Given the description of an element on the screen output the (x, y) to click on. 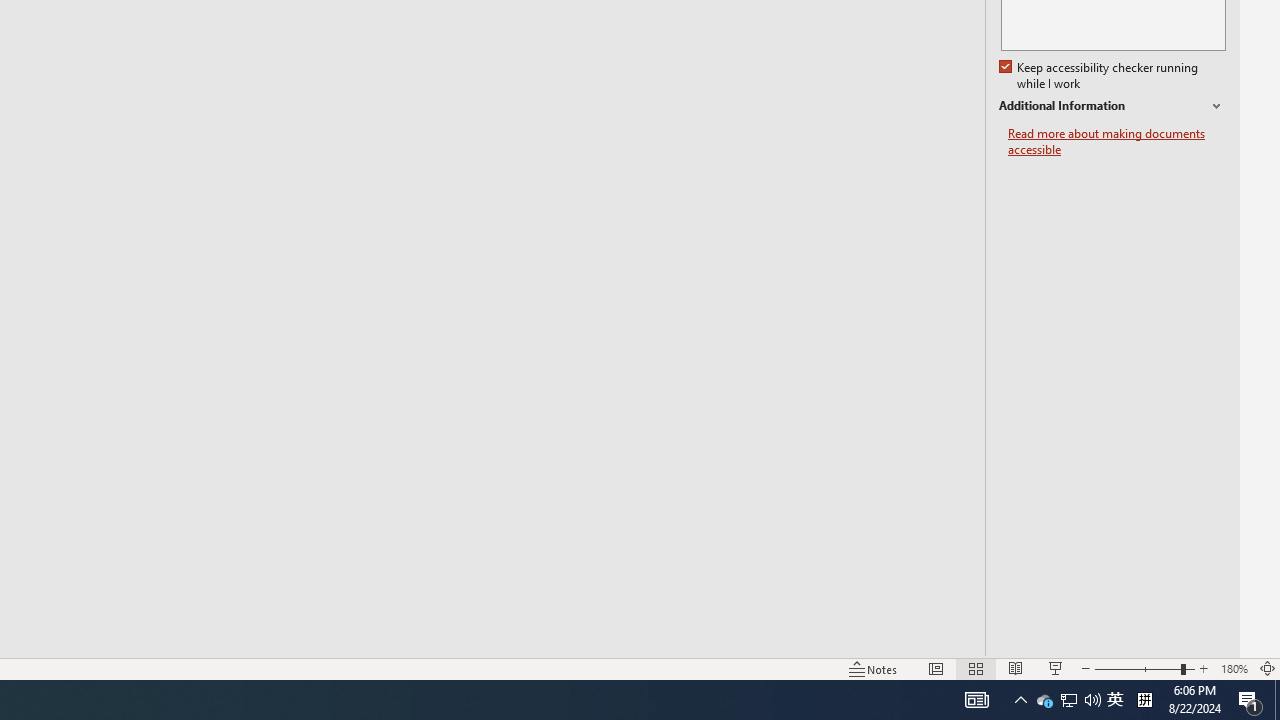
Zoom 180% (1234, 668)
Read more about making documents accessible (1117, 142)
Keep accessibility checker running while I work (1099, 76)
Additional Information (1112, 106)
